Given the description of an element on the screen output the (x, y) to click on. 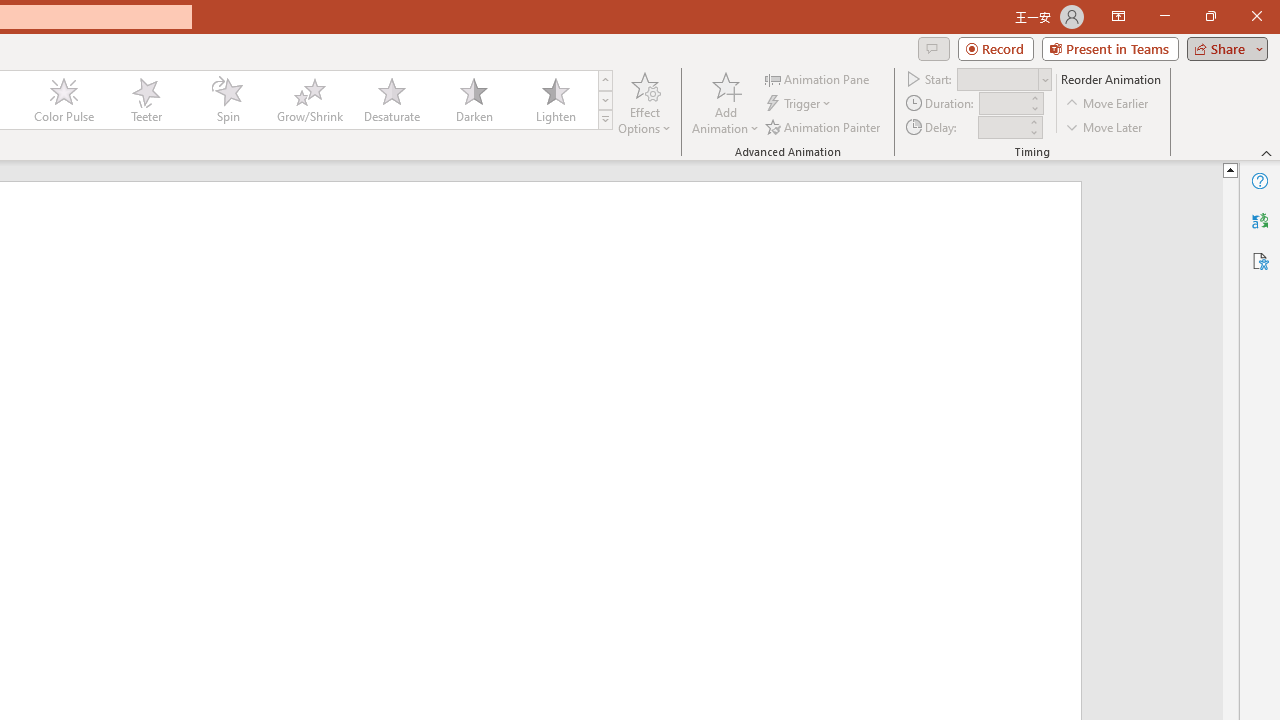
Animation Styles (605, 120)
Move Later (1105, 126)
Animation Delay (1002, 127)
Grow/Shrink (309, 100)
Lighten (555, 100)
Spin (227, 100)
Animation Duration (1003, 103)
Effect Options (644, 102)
Desaturate (391, 100)
